Given the description of an element on the screen output the (x, y) to click on. 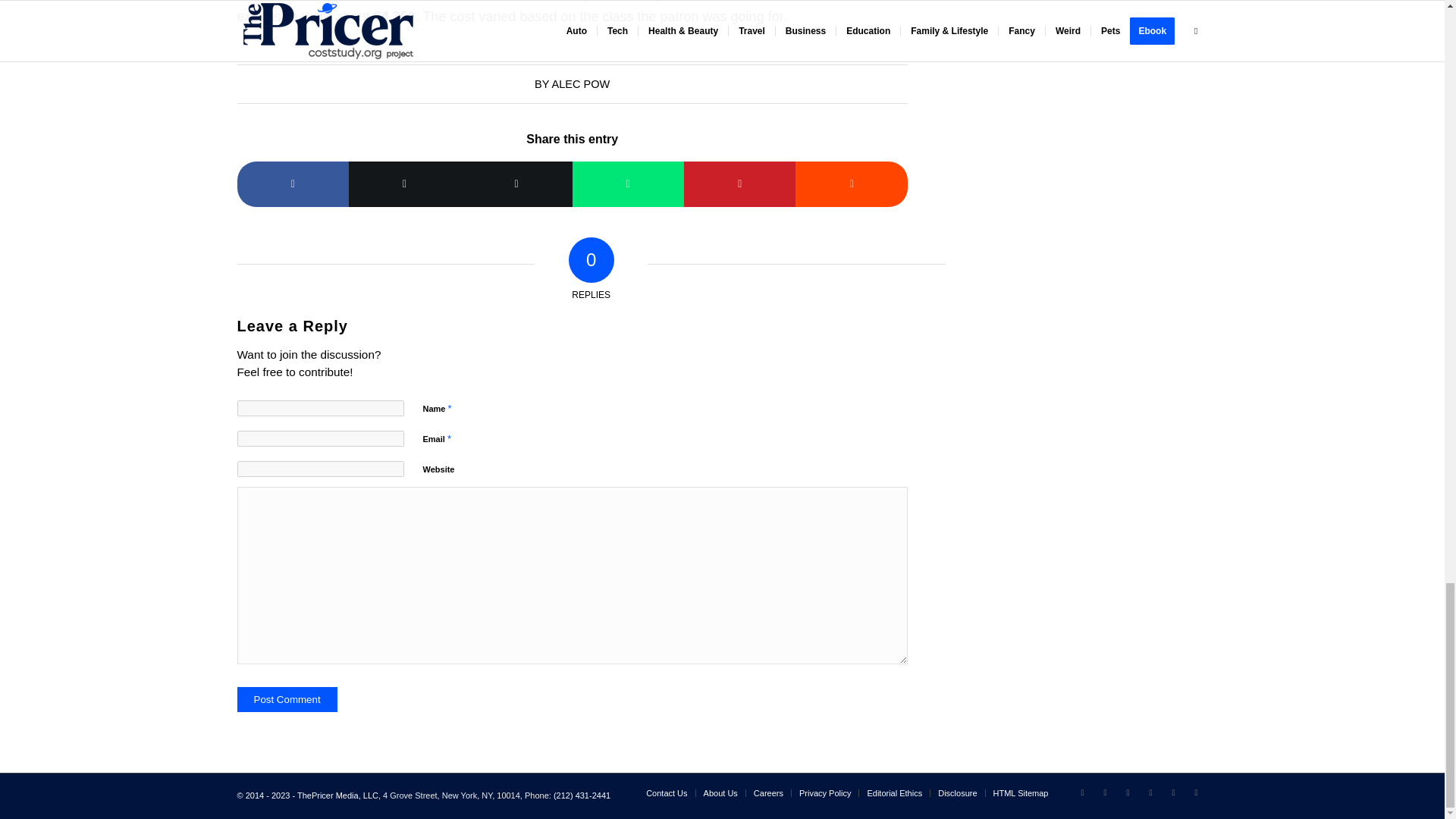
Facebook (1127, 792)
Instagram (1149, 792)
LinkedIn (1104, 792)
Twitter (1081, 792)
Pinterest (1173, 792)
Posts by Alec Pow (580, 83)
Youtube (1196, 792)
Post Comment (285, 699)
